Given the description of an element on the screen output the (x, y) to click on. 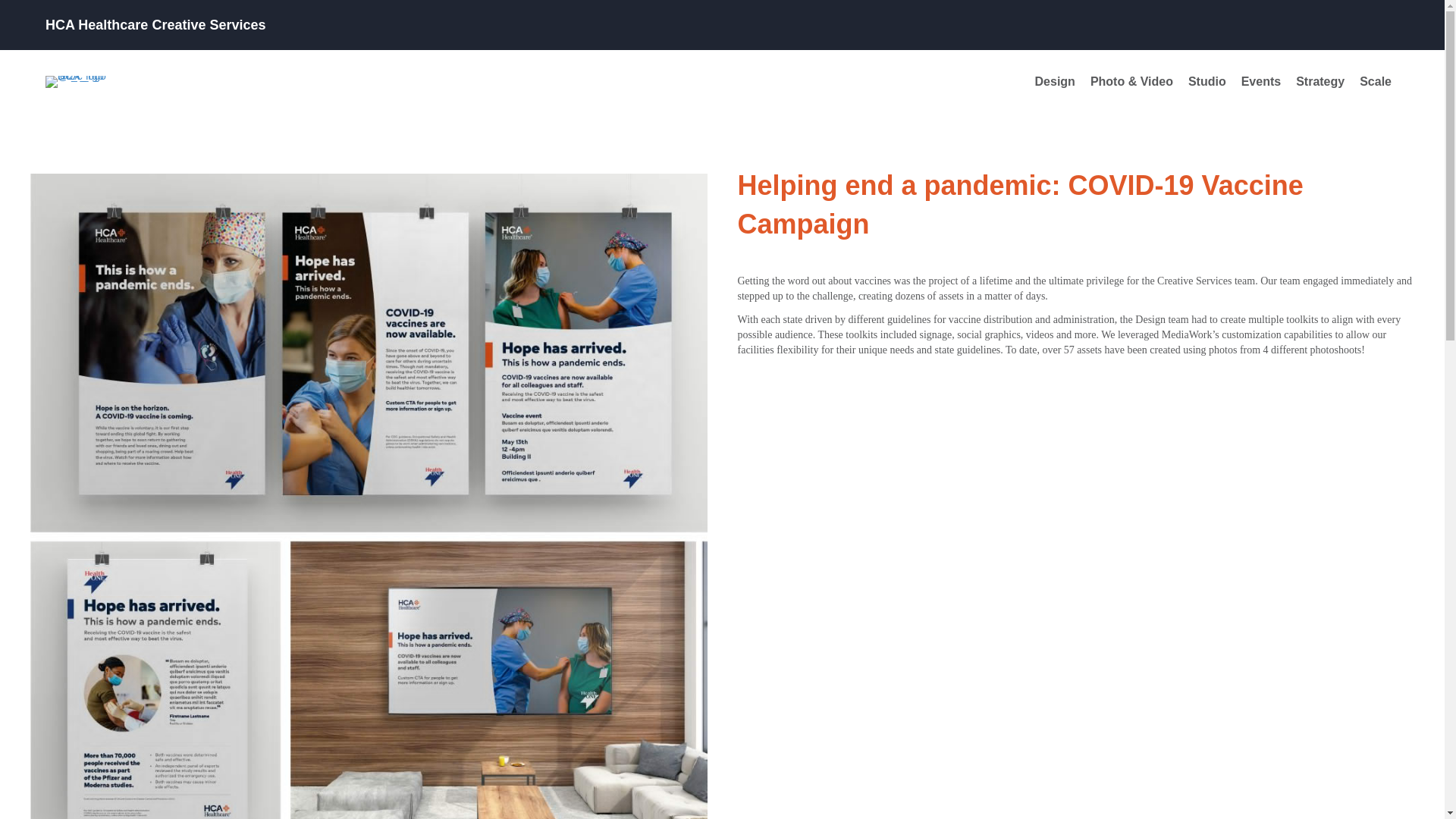
Studio (1206, 81)
Design (1055, 81)
Events (1260, 81)
Strategy (1320, 81)
Scale (1375, 81)
